Given the description of an element on the screen output the (x, y) to click on. 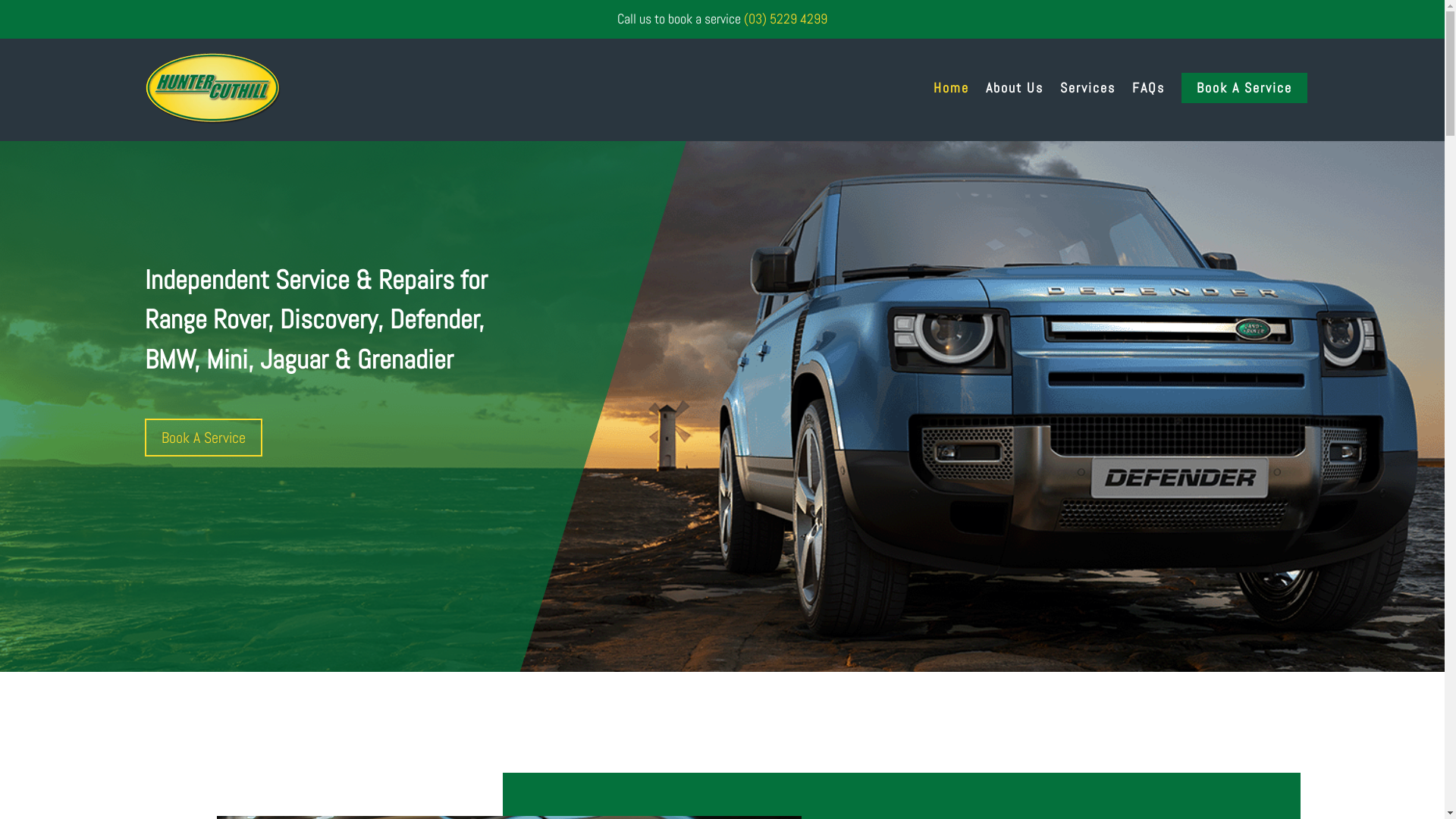
Book A Service Element type: text (202, 437)
Home Element type: text (951, 87)
About Us Element type: text (1014, 87)
Services Element type: text (1087, 87)
(03) 5229 4299 Element type: text (785, 18)
FAQs Element type: text (1148, 87)
Book A Service Element type: text (1244, 87)
